Given the description of an element on the screen output the (x, y) to click on. 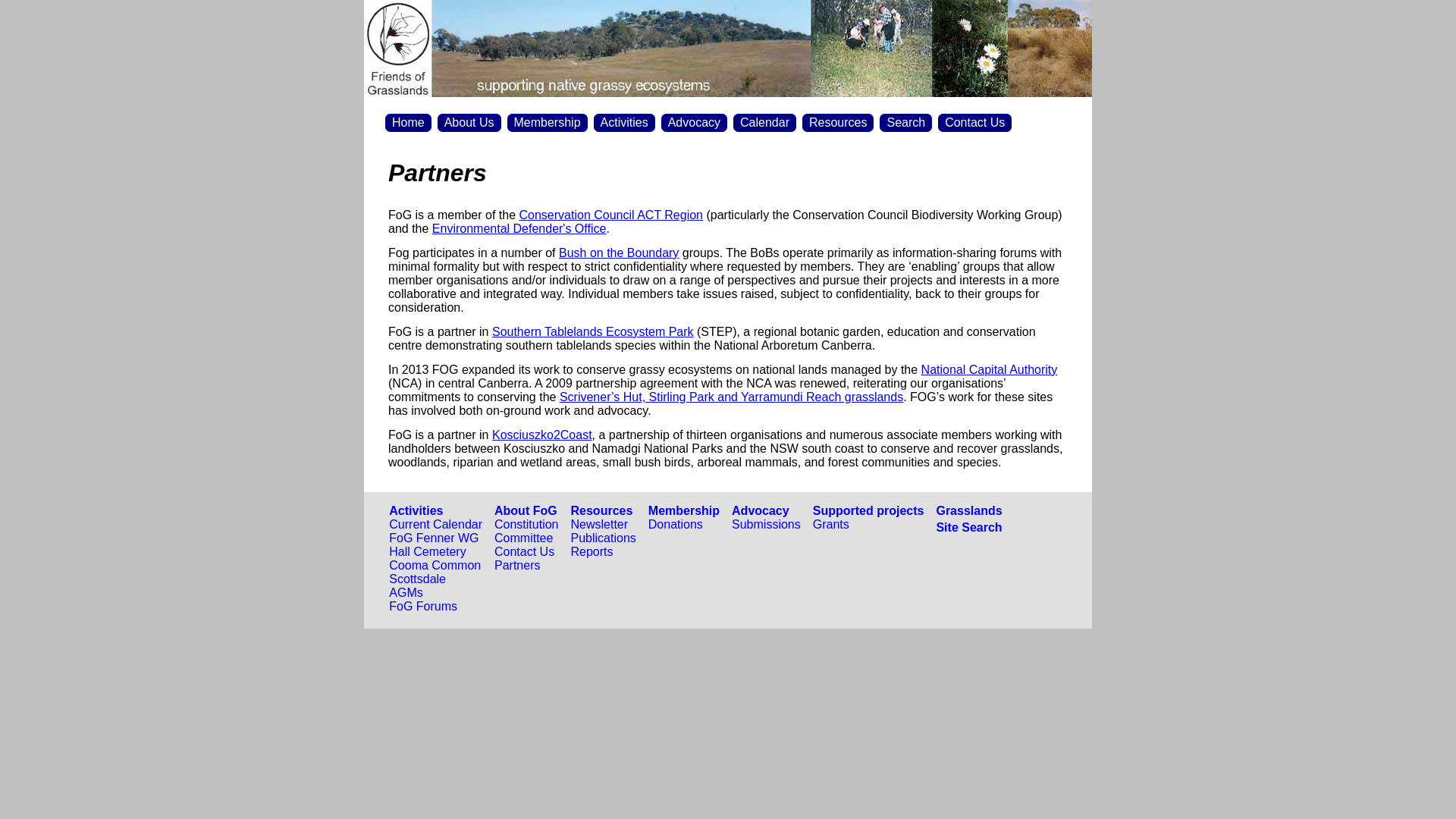
Submissions Element type: text (765, 523)
Partners Element type: text (516, 564)
Advocacy Element type: text (694, 122)
About FoG Element type: text (525, 510)
Conservation Council ACT Region Element type: text (611, 214)
Resources Element type: text (837, 122)
Contact Us Element type: text (974, 122)
Publications Element type: text (603, 537)
Environmental Defender's Office Element type: text (519, 228)
Kosciuszko2Coast Element type: text (542, 434)
Southern Tablelands Ecosystem Park Element type: text (592, 331)
Site Search Element type: text (968, 526)
AGMs Element type: text (405, 592)
About Us Element type: text (469, 122)
Hall Cemetery Element type: text (427, 551)
Calendar Element type: text (764, 122)
Advocacy Element type: text (760, 510)
Resources Element type: text (602, 510)
Cooma Common Element type: text (434, 564)
Scottsdale Element type: text (417, 578)
Donations Element type: text (675, 523)
FoG Fenner WG Element type: text (433, 537)
Grants Element type: text (830, 523)
Constitution Element type: text (526, 523)
Activities Element type: text (415, 510)
Activities Element type: text (624, 122)
National Capital Authority Element type: text (989, 369)
Current Calendar Element type: text (435, 523)
Home Element type: text (408, 122)
Grasslands Element type: text (968, 510)
Search Element type: text (905, 122)
Contact Us Element type: text (524, 551)
Bush on the Boundary Element type: text (618, 252)
Membership Element type: text (546, 122)
Reports Element type: text (592, 551)
FoG Forums Element type: text (423, 605)
Membership Element type: text (683, 510)
Newsletter Element type: text (599, 523)
Committee Element type: text (523, 537)
Supported projects Element type: text (868, 510)
